Given the description of an element on the screen output the (x, y) to click on. 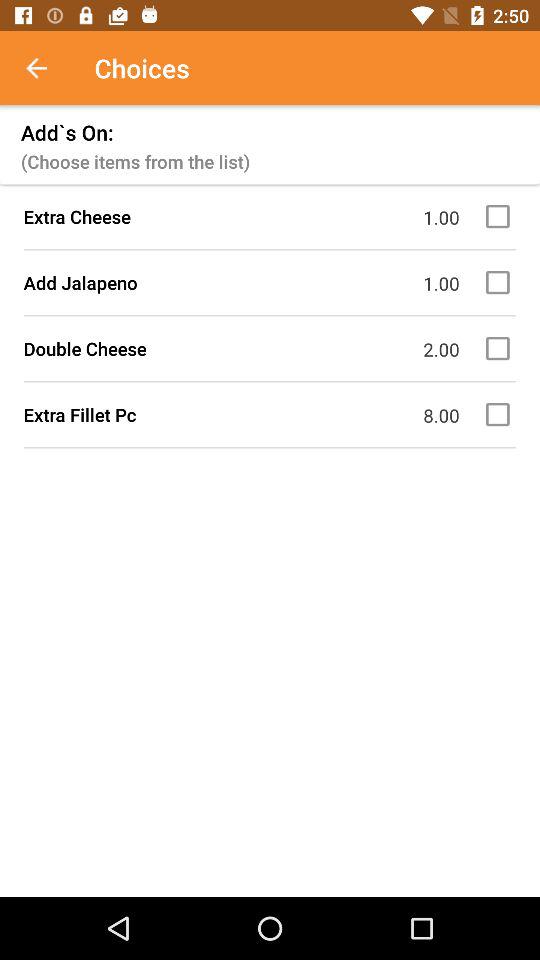
turn off the item next to choices (47, 68)
